Given the description of an element on the screen output the (x, y) to click on. 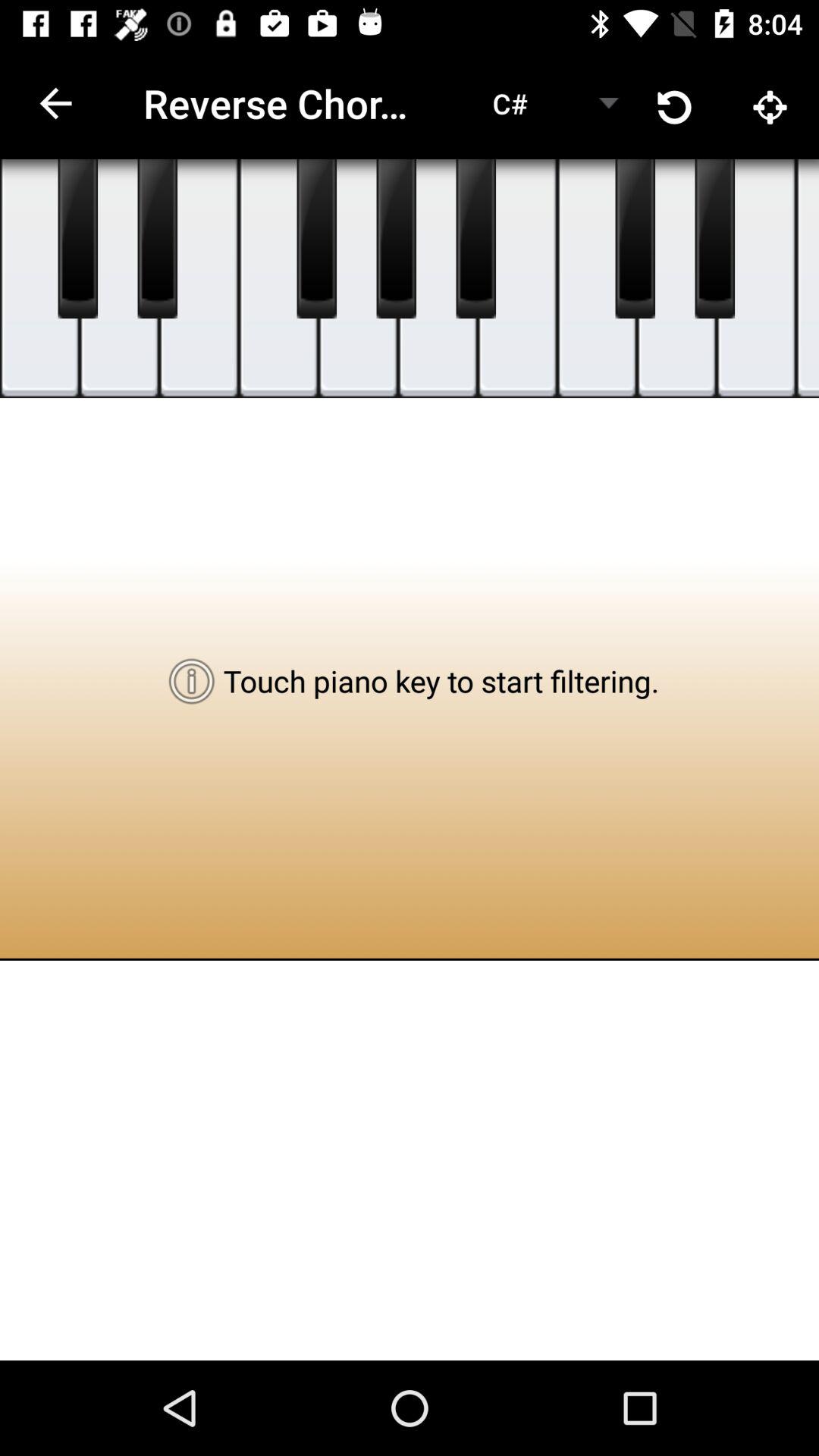
click on the third black button of the piano (316, 238)
click on the 2nd black piano key from the right (635, 238)
click on the second white bar in key board image (118, 277)
click on the button which is next to the refresh (771, 103)
click  on the fifth white bar in the keyboard image (358, 277)
click the refresh button on the web page (675, 103)
select the 2nd black bar on the web page (157, 238)
